Given the description of an element on the screen output the (x, y) to click on. 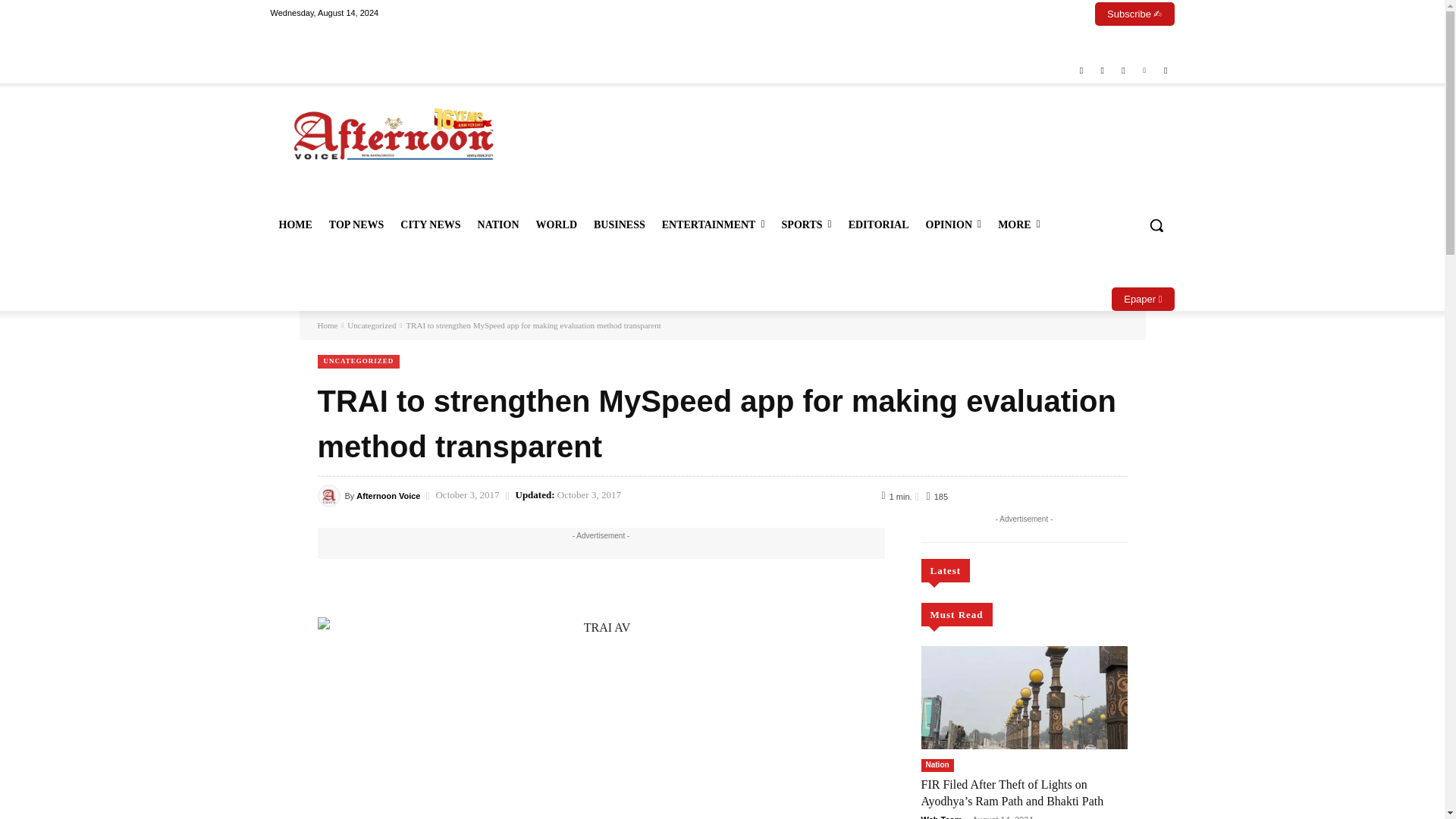
Vimeo (1144, 70)
Twitter (1123, 70)
Instagram (1101, 70)
Youtube (1165, 70)
Facebook (1081, 70)
